Given the description of an element on the screen output the (x, y) to click on. 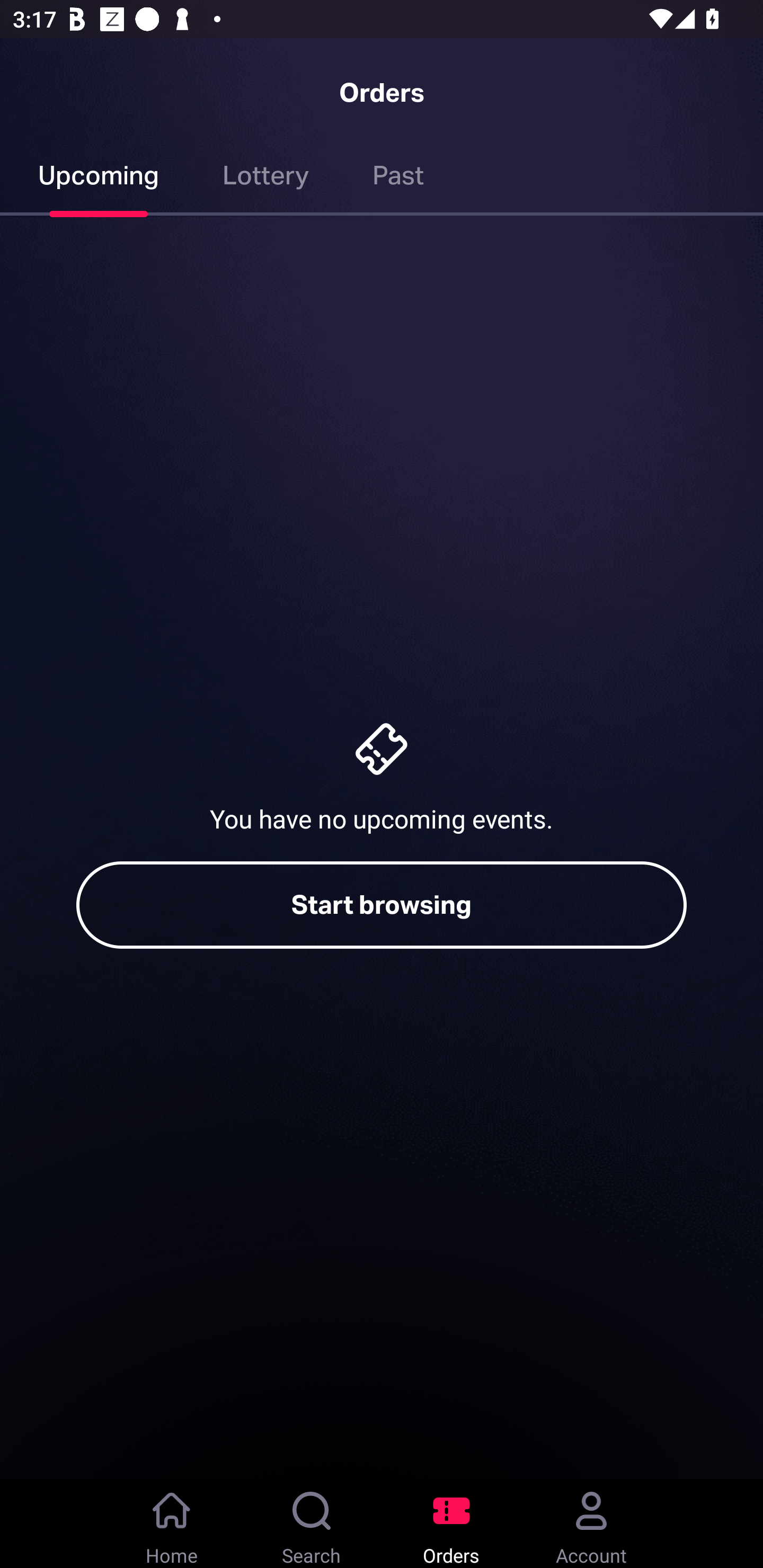
Lottery (265, 179)
Past (398, 179)
Start browsing (381, 904)
Home (171, 1523)
Search (311, 1523)
Account (591, 1523)
